Given the description of an element on the screen output the (x, y) to click on. 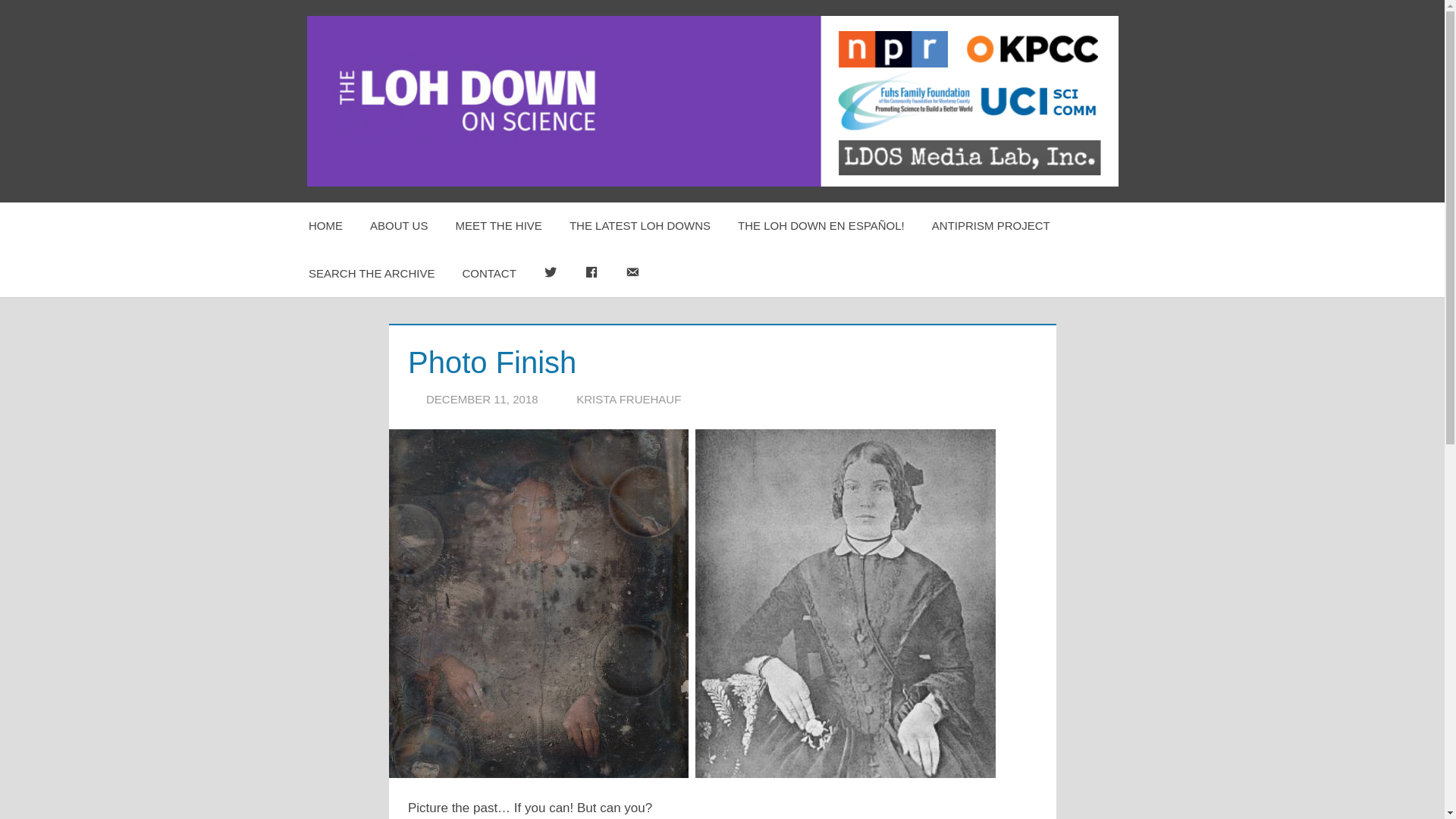
SEARCH THE ARCHIVE (371, 273)
KRISTA FRUEHAUF (628, 399)
CONTACT (488, 273)
HOME (325, 225)
THE LATEST LOH DOWNS (639, 225)
View all posts by Krista Fruehauf (628, 399)
DECEMBER 11, 2018 (482, 399)
12:00 am (482, 399)
MEET THE HIVE (497, 225)
ANTIPRISM PROJECT (991, 225)
